Given the description of an element on the screen output the (x, y) to click on. 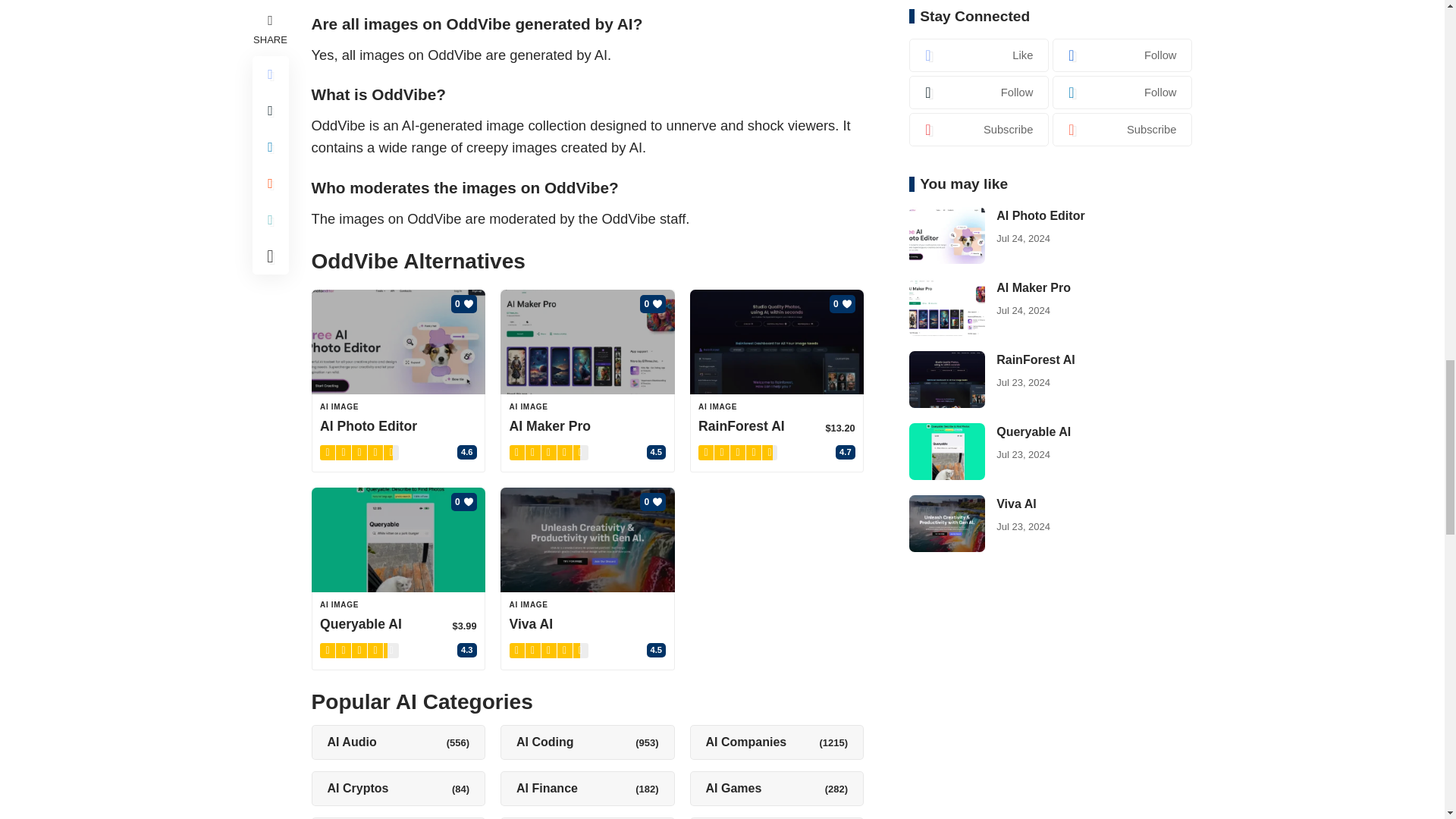
RainForest AI (777, 341)
AI Photo Editor (397, 341)
Viva AI (587, 539)
AI Maker Pro (587, 341)
Queryable AI (397, 539)
